Given the description of an element on the screen output the (x, y) to click on. 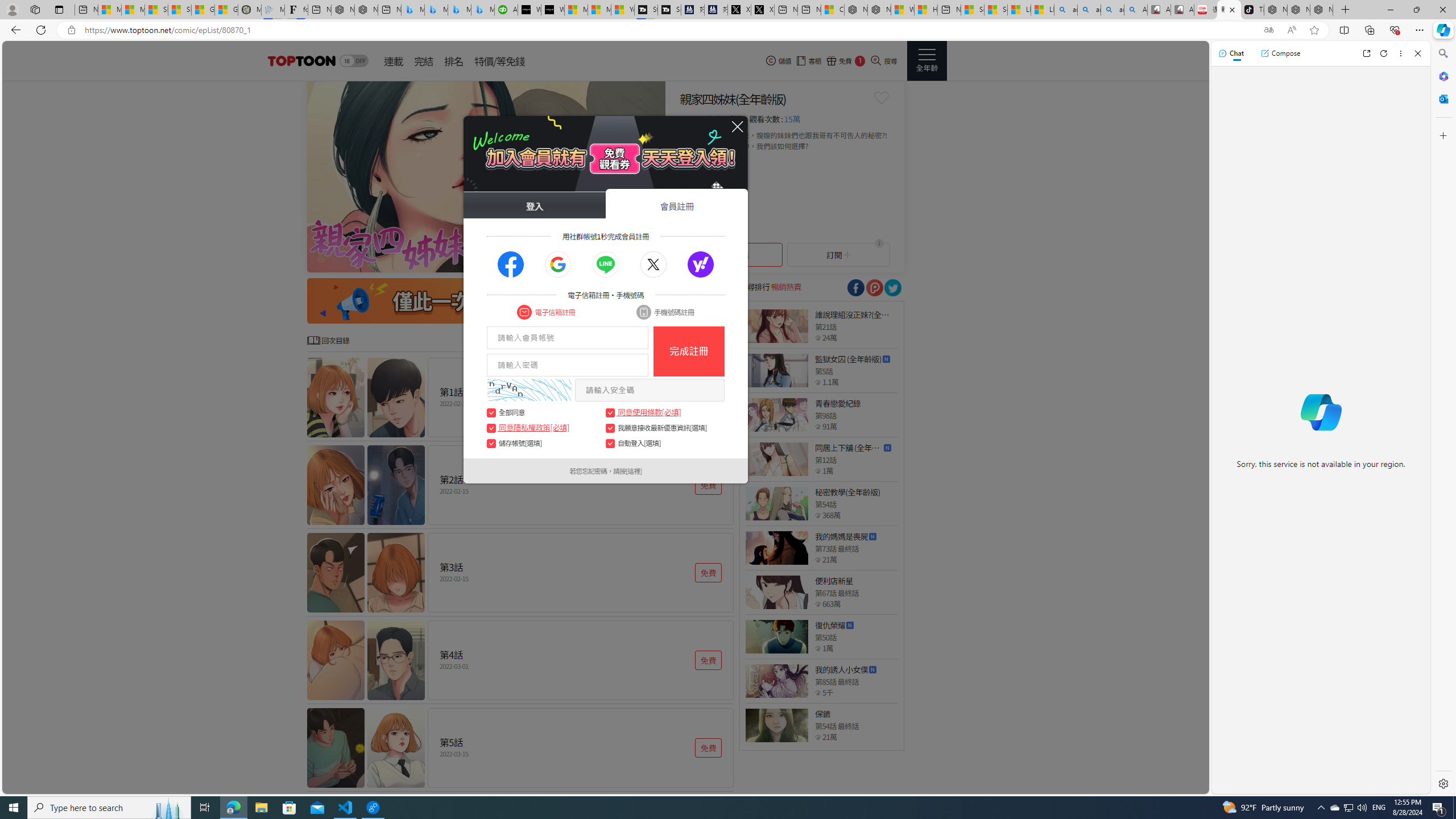
Customize (1442, 135)
Class: socialShare (892, 287)
Class: side_menu_btn actionRightMenuBtn (926, 60)
Nordace - #1 Japanese Best-Seller - Siena Smart Backpack (365, 9)
All Cubot phones (1182, 9)
TikTok (1252, 9)
Class:  switch_18mode actionAdultBtn (353, 60)
